Given the description of an element on the screen output the (x, y) to click on. 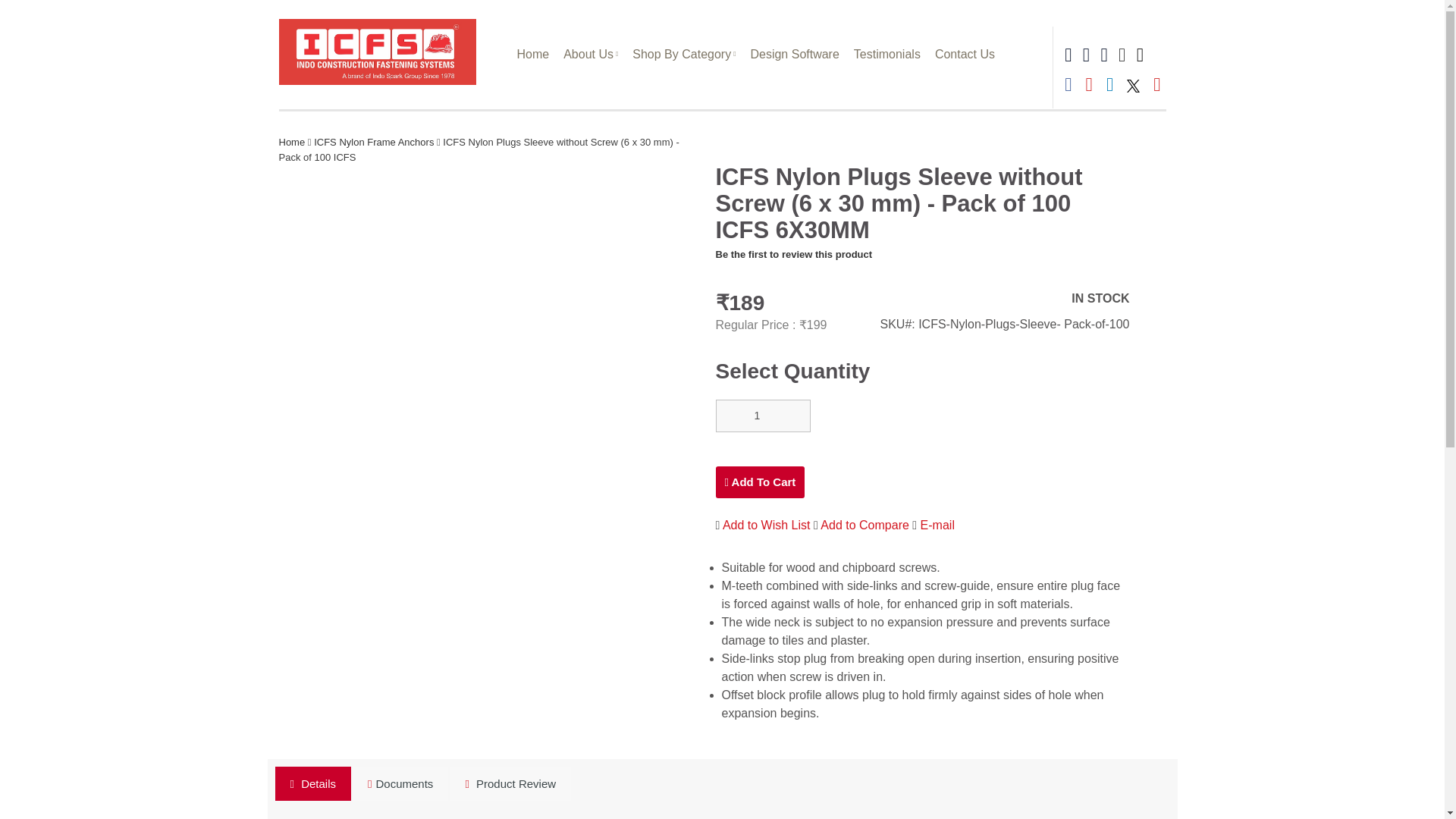
Design Software (793, 53)
About Us (591, 53)
Home (532, 53)
Contact Us (965, 53)
Home (293, 142)
ICFS Nylon Frame Anchors (375, 142)
Shop By Category (684, 53)
1 (763, 415)
Testimonials (887, 53)
twitter (1133, 85)
